Given the description of an element on the screen output the (x, y) to click on. 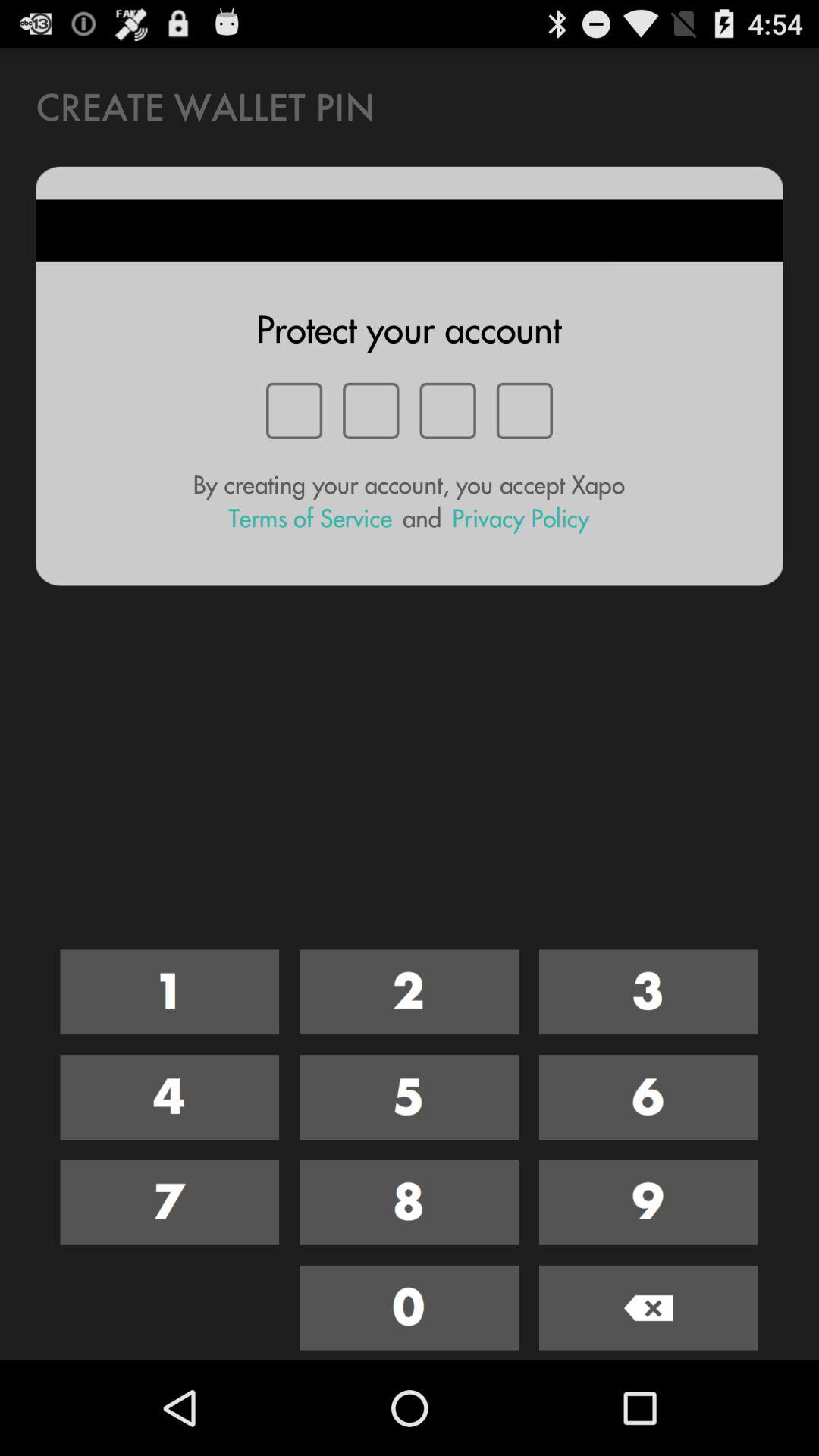
type 5 (408, 1097)
